Given the description of an element on the screen output the (x, y) to click on. 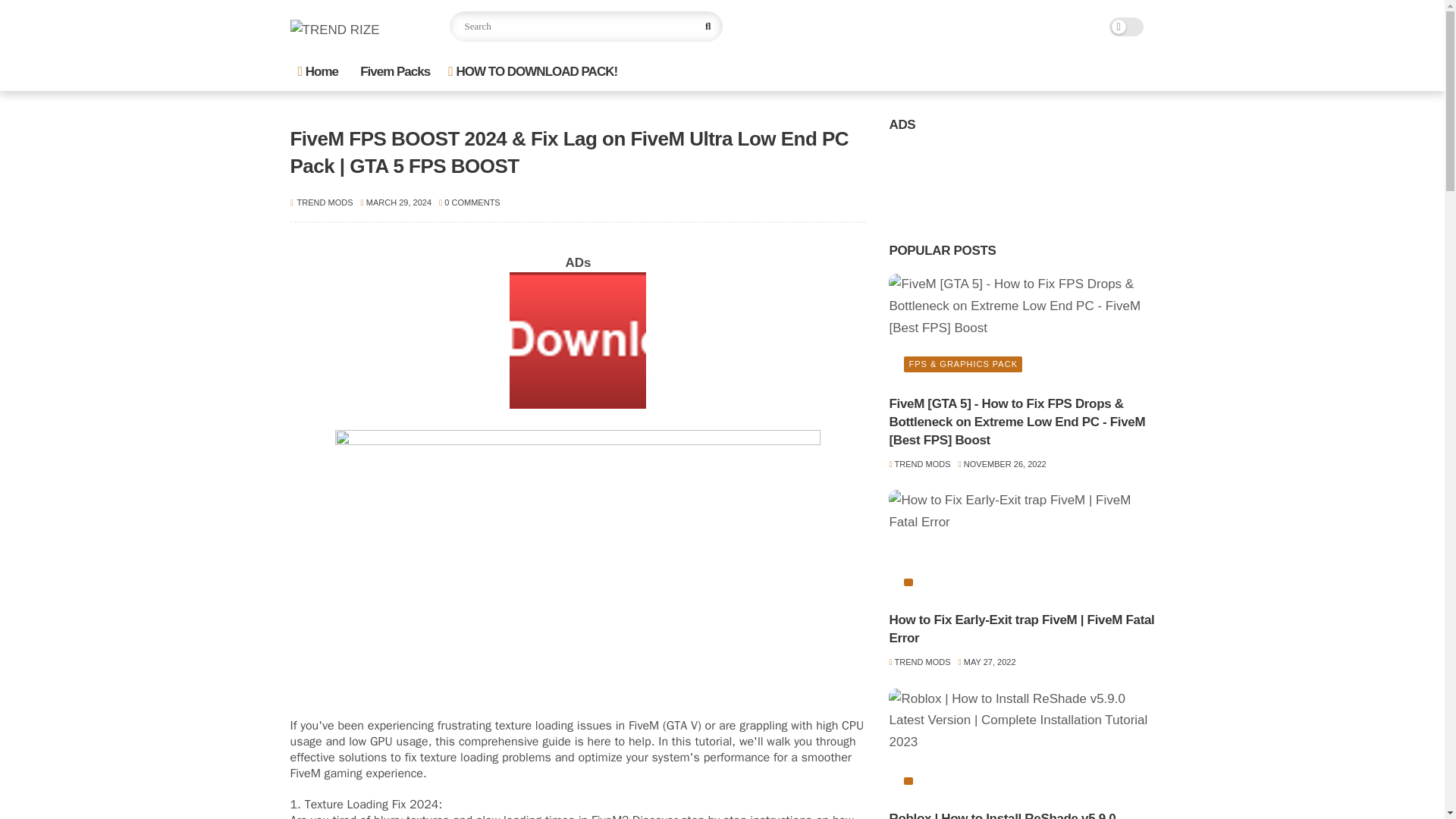
TREND RIZE (333, 29)
Fivem Packs (393, 71)
HOW TO DOWNLOAD PACK! (532, 71)
Home (317, 71)
TREND RIZE (333, 30)
